Given the description of an element on the screen output the (x, y) to click on. 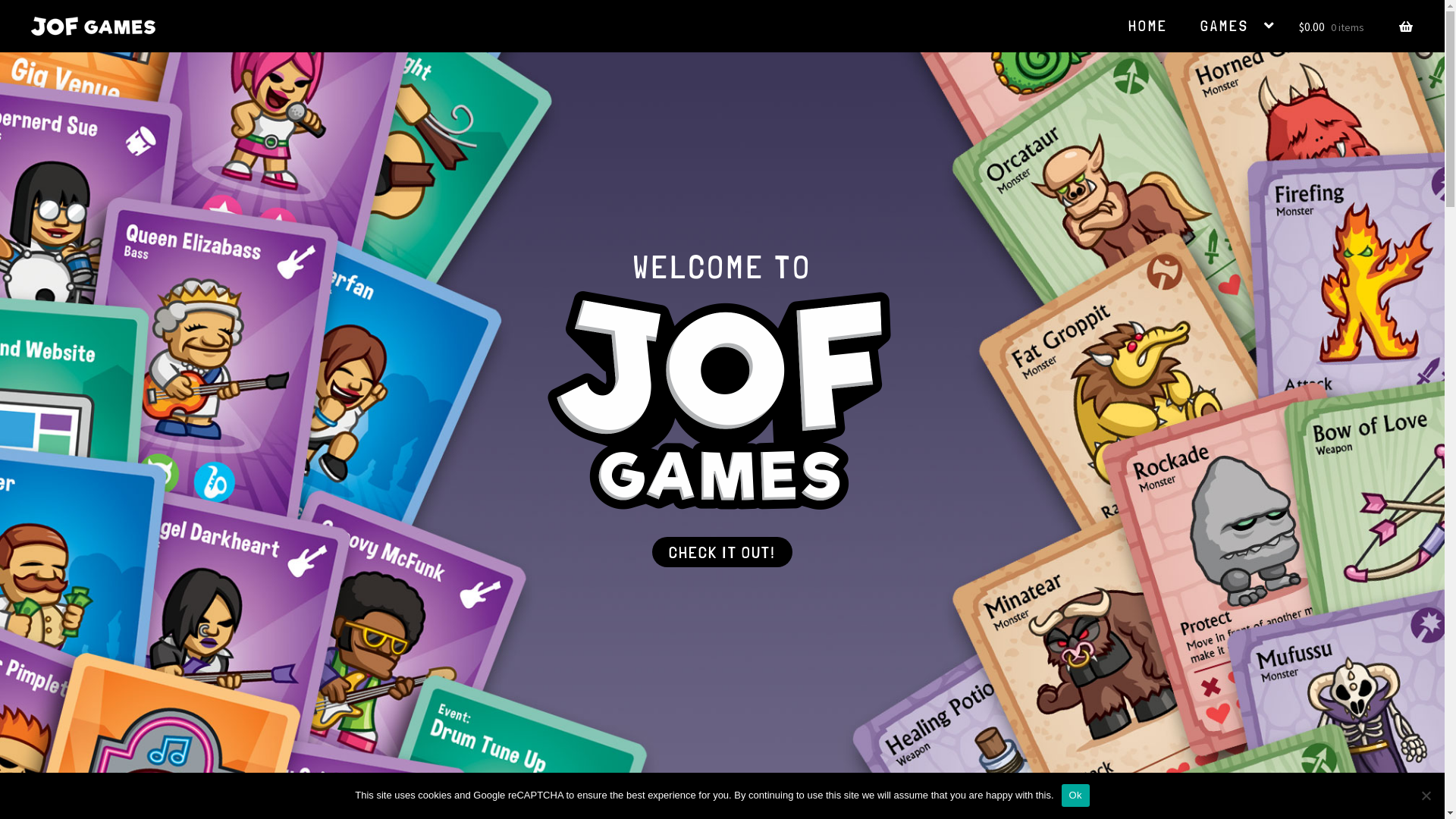
GAMES Element type: text (1238, 25)
Ok Element type: text (1075, 795)
$0.00 0 items Element type: text (1355, 24)
Skip to navigation Element type: text (29, 38)
HOME Element type: text (1148, 25)
No Element type: hover (1425, 795)
CHECK IT OUT! Element type: text (722, 551)
